Given the description of an element on the screen output the (x, y) to click on. 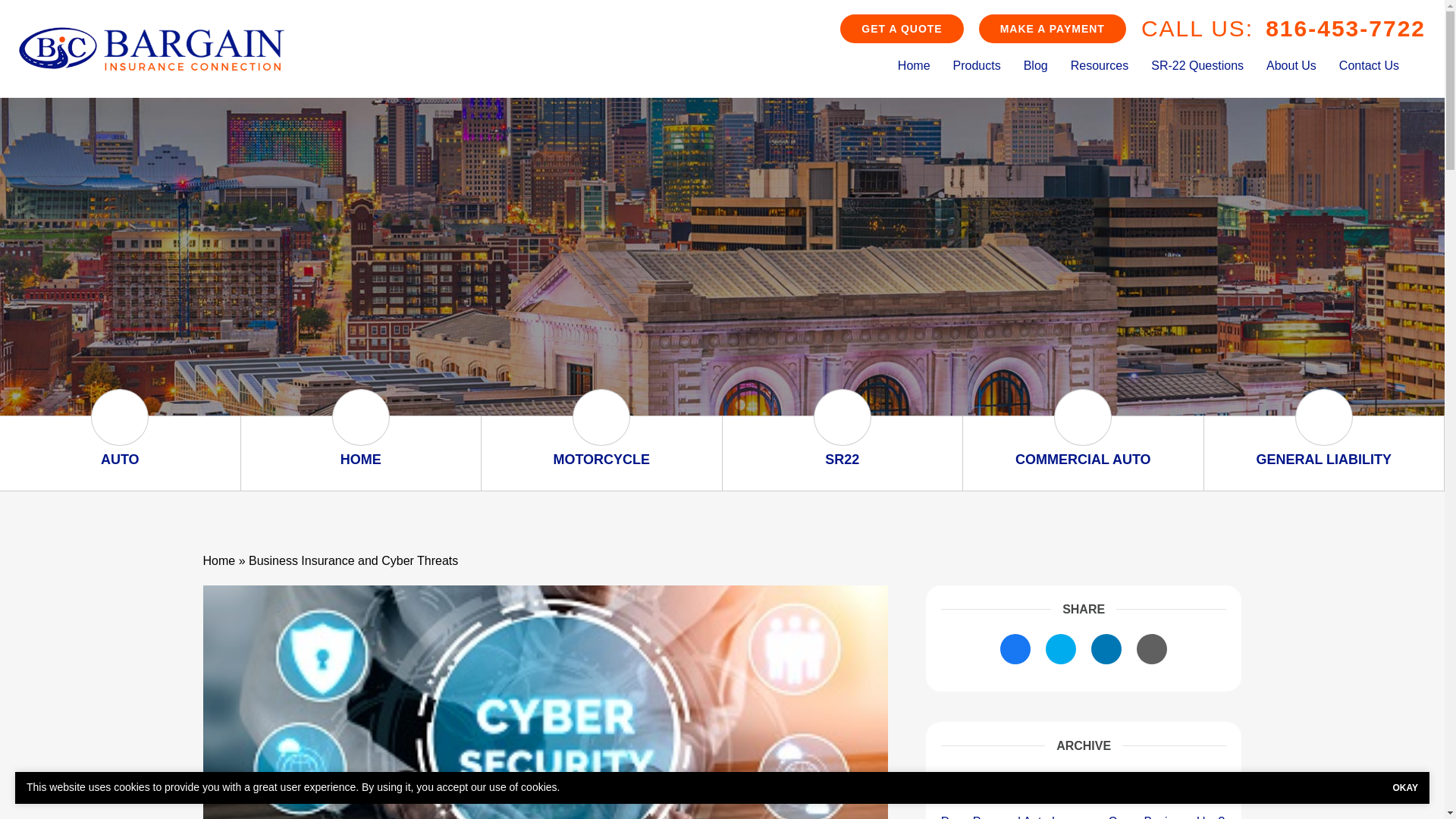
SR-22 Questions (1197, 65)
Products (976, 65)
GET A QUOTE (901, 27)
MAKE A PAYMENT (1051, 27)
Home (914, 65)
816-453-7722 (1345, 27)
About Us (1291, 65)
Resources (1099, 65)
Blog (1035, 65)
